Given the description of an element on the screen output the (x, y) to click on. 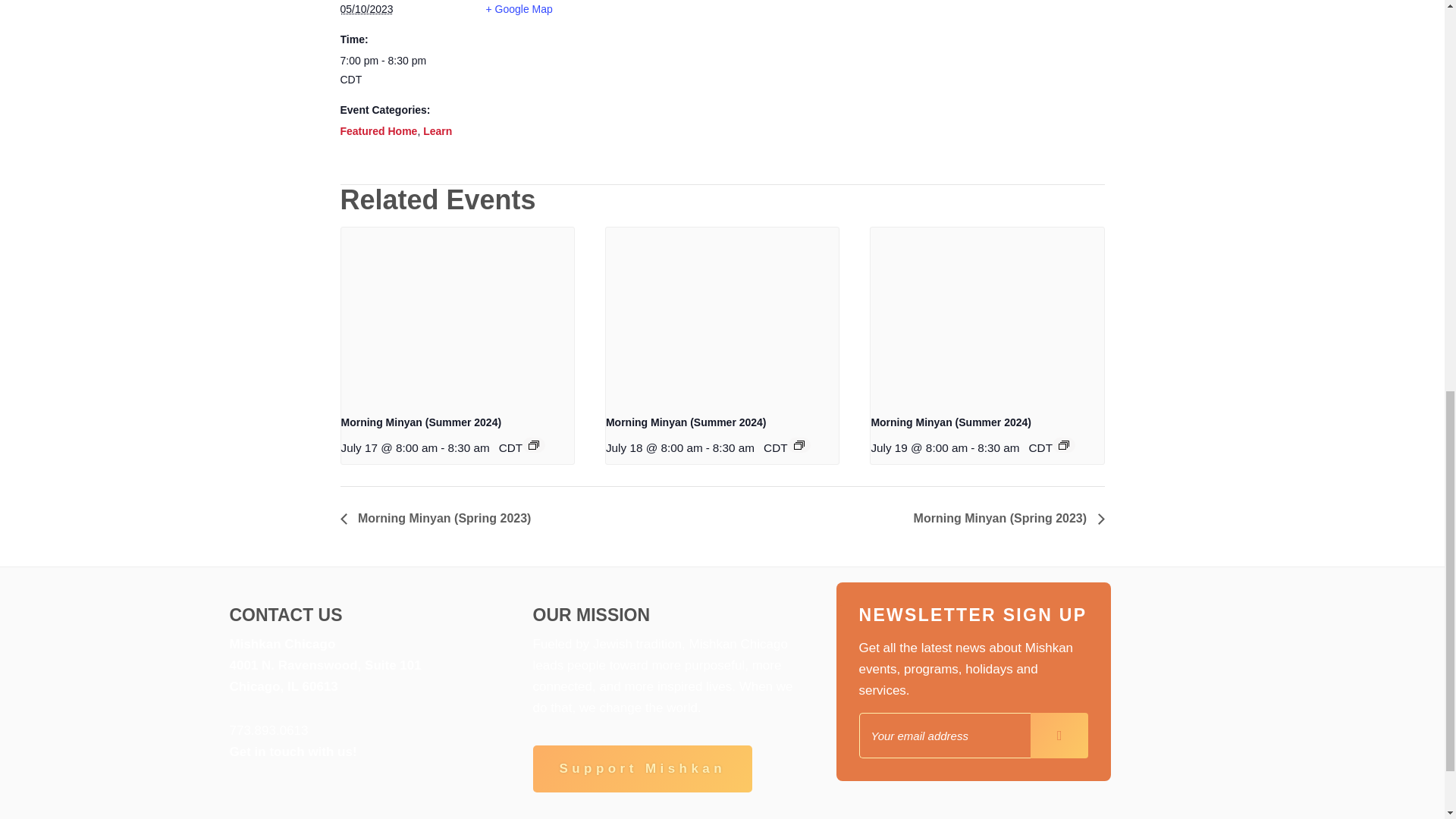
Google maps iframe displaying the address to  (710, 53)
2023-05-10 (403, 70)
Event Series (799, 444)
2023-05-10 (366, 9)
Click to view a Google Map (517, 9)
Event Series (533, 444)
Event Series (1063, 444)
